Given the description of an element on the screen output the (x, y) to click on. 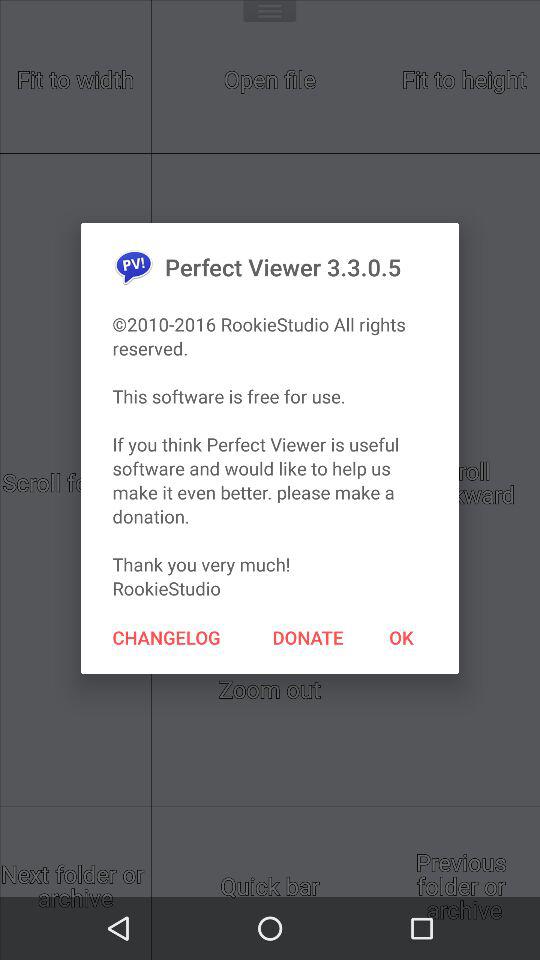
launch the item to the left of the donate item (166, 637)
